Given the description of an element on the screen output the (x, y) to click on. 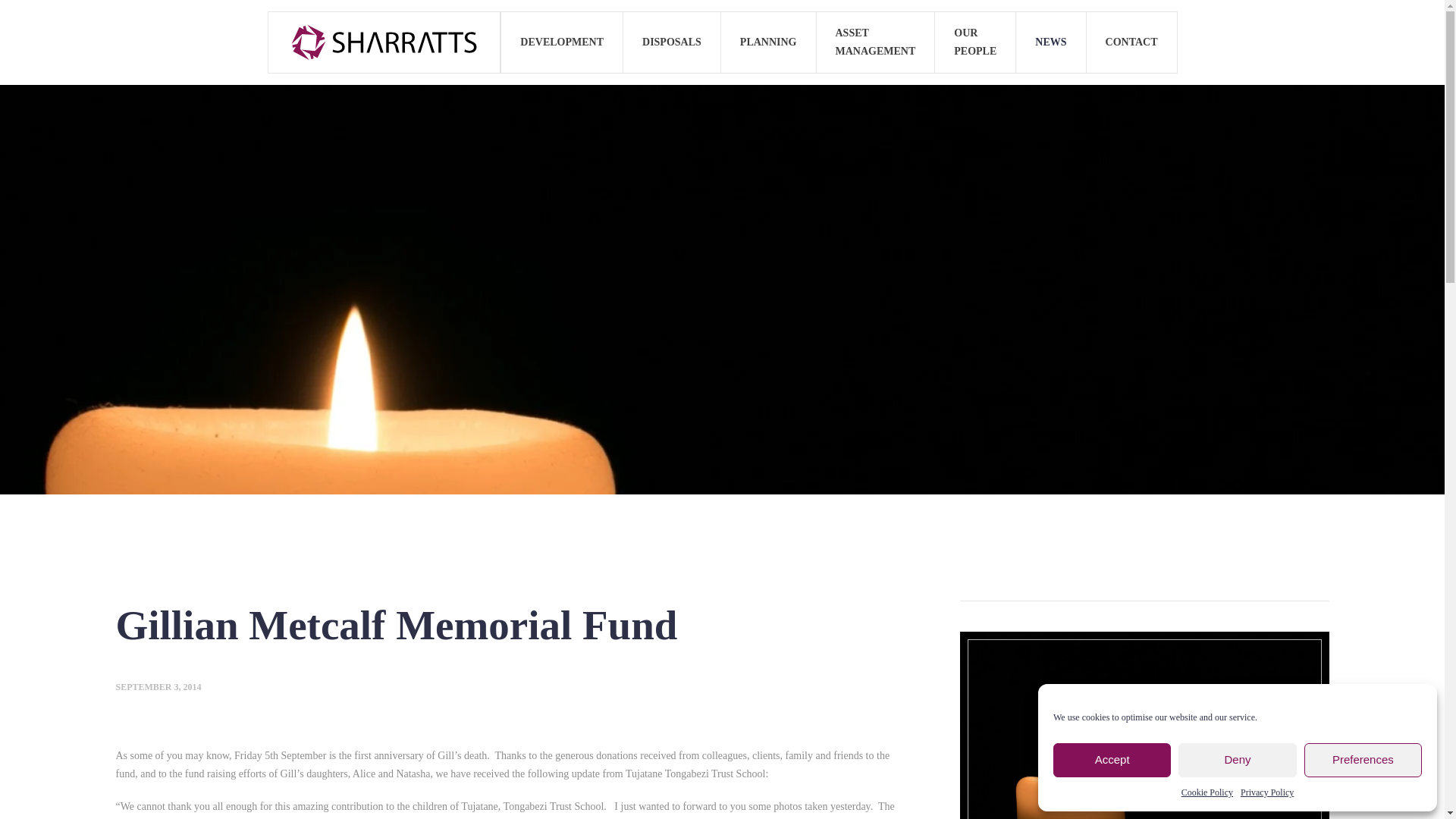
OUR PEOPLE (975, 42)
Cookie Policy (1206, 792)
Privacy Policy (1267, 792)
NEWS (1051, 42)
Preferences (1363, 759)
Accept (1111, 759)
ASSET MANAGEMENT (874, 42)
DEVELOPMENT (561, 42)
PLANNING (768, 42)
Deny (1236, 759)
CONTACT (1131, 42)
DISPOSALS (671, 42)
